Given the description of an element on the screen output the (x, y) to click on. 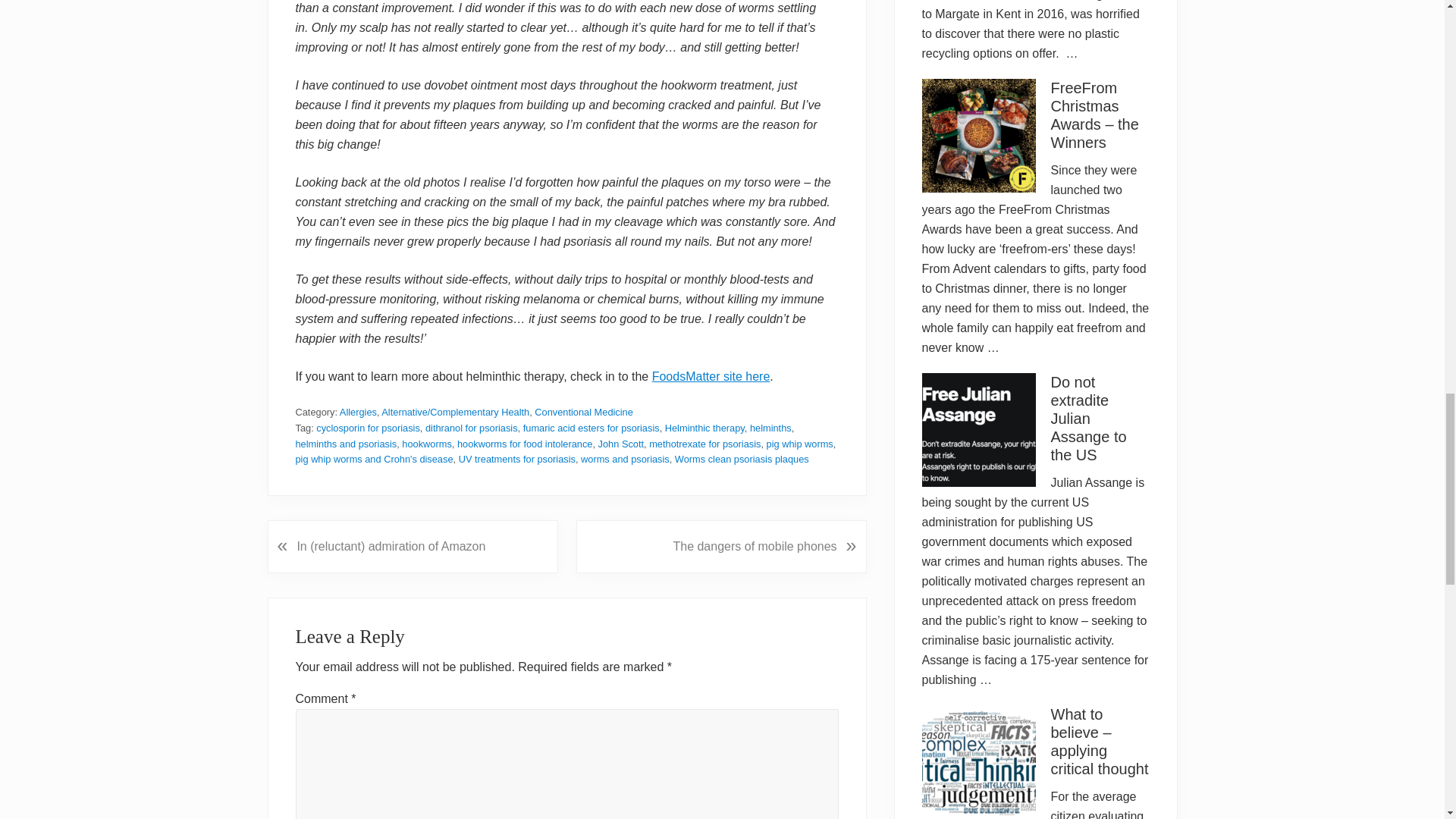
hookworms (426, 443)
Allergies (358, 411)
Helminthic therapy (704, 428)
Conventional Medicine (582, 411)
helminths (770, 428)
FoodsMatter site here (711, 376)
dithranol for psoriasis (471, 428)
helminths and psoriasis (346, 443)
fumaric acid esters for psoriasis (590, 428)
cyclosporin for psoriasis (367, 428)
